Given the description of an element on the screen output the (x, y) to click on. 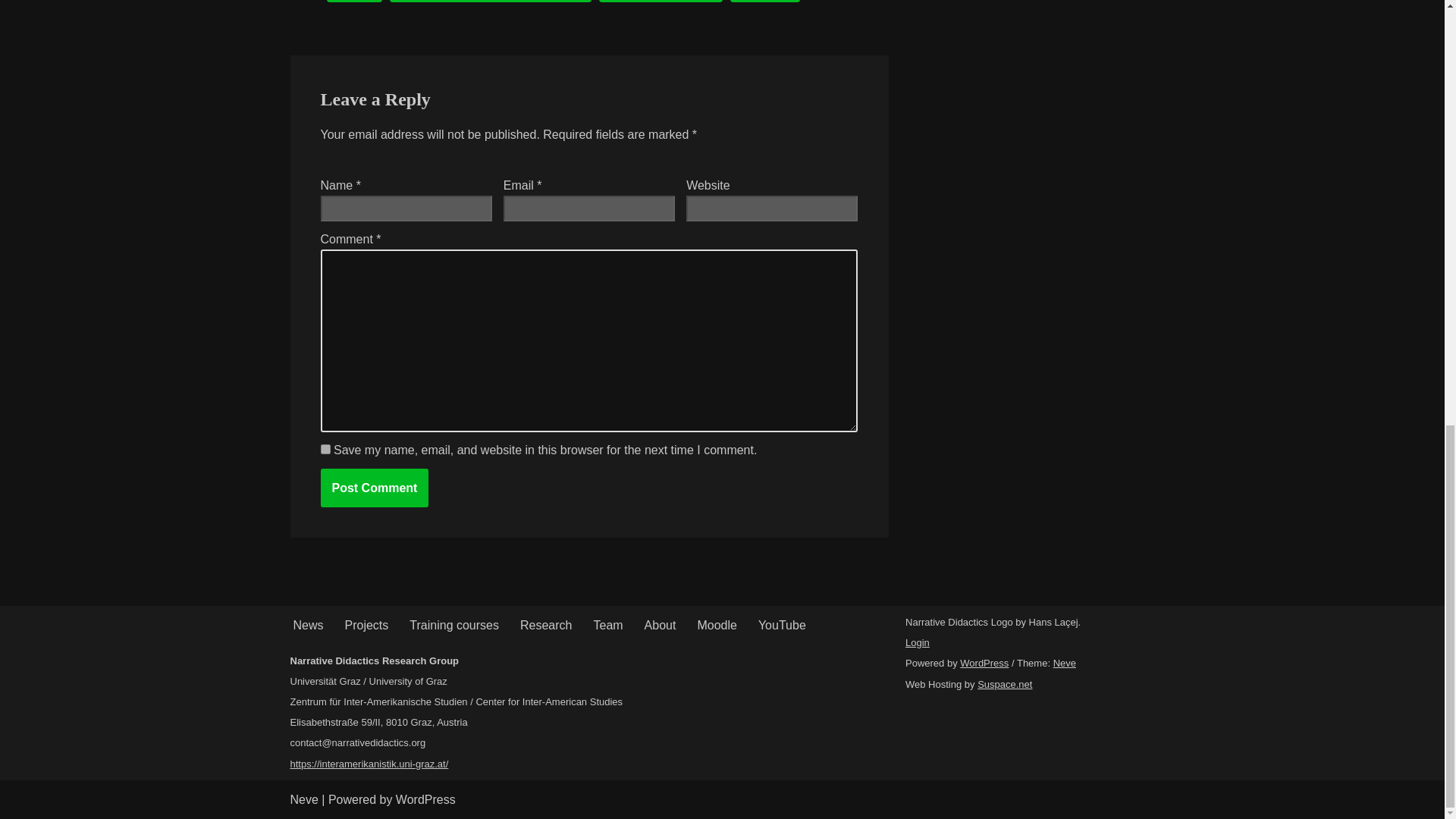
yes (325, 449)
Post Comment (374, 486)
Department of Translation Studies (490, 1)
Digital Storytelling (660, 1)
University (764, 1)
Austria (353, 1)
